Given the description of an element on the screen output the (x, y) to click on. 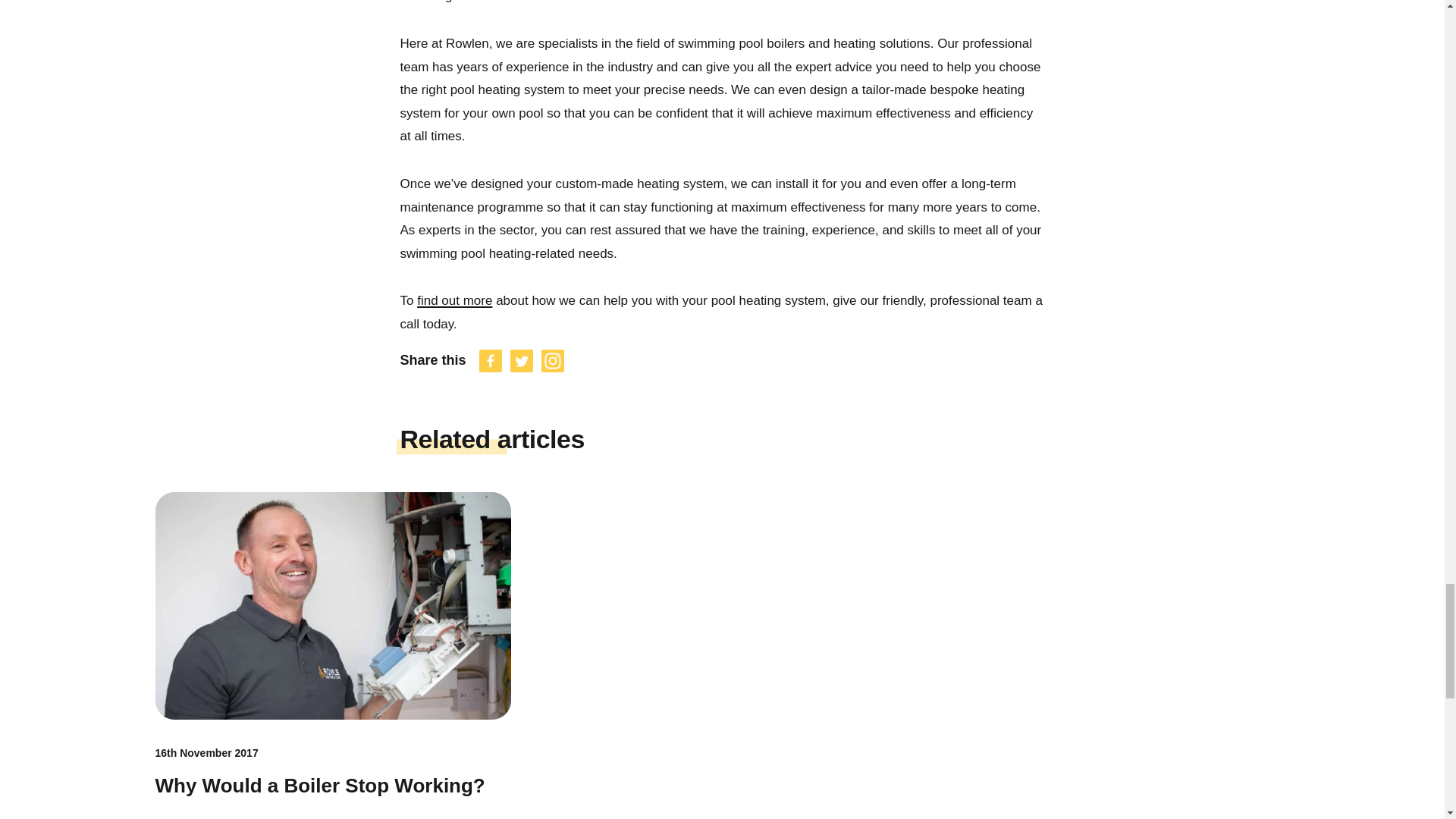
Tweet (521, 361)
Share on Instagram (552, 361)
Share on Facebook (490, 361)
